Given the description of an element on the screen output the (x, y) to click on. 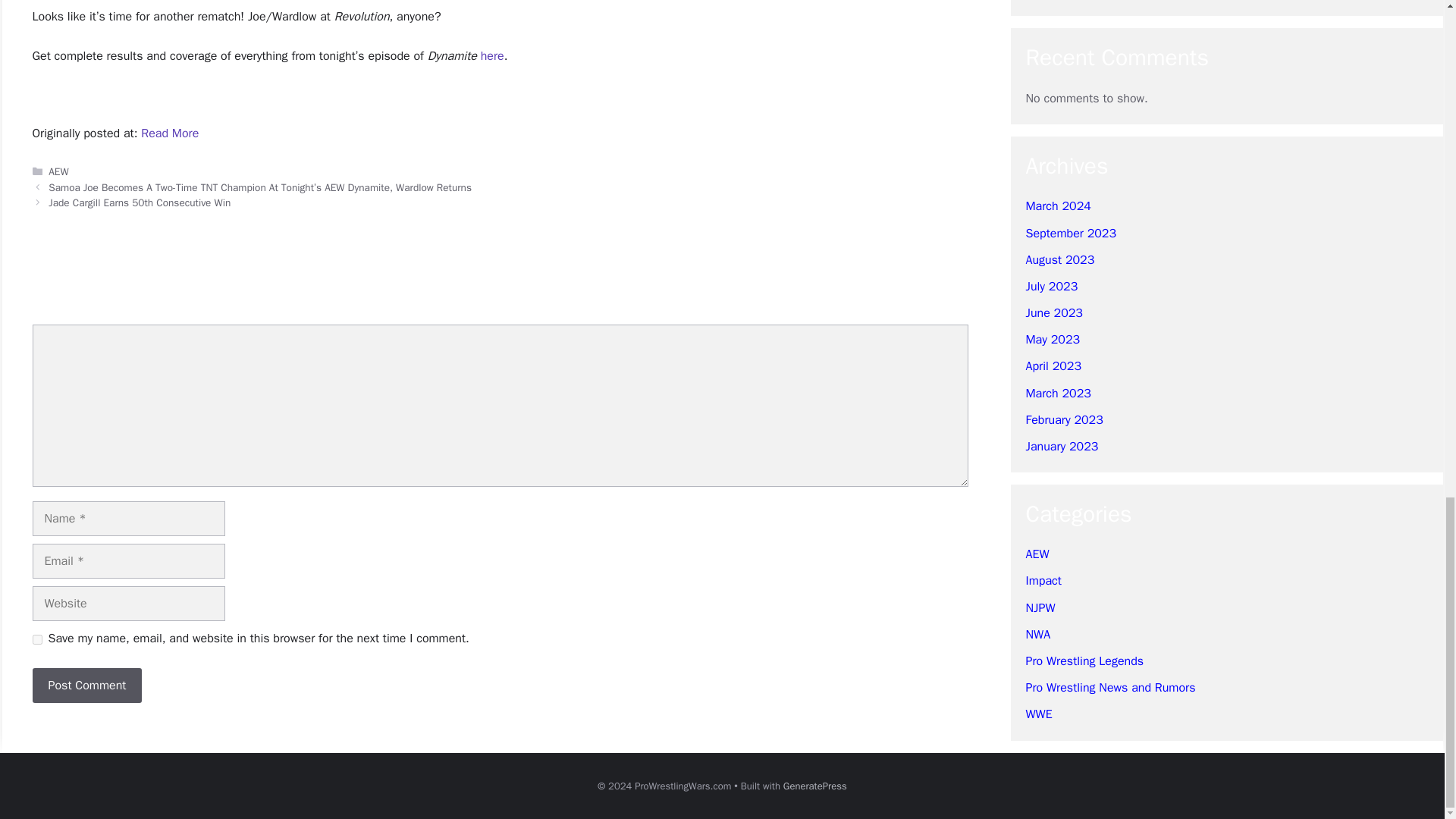
here (491, 55)
AEW (58, 171)
Post Comment (86, 685)
Scroll back to top (1406, 254)
yes (37, 639)
Post Comment (86, 685)
Jade Cargill Earns 50th Consecutive Win (139, 202)
Read More (169, 133)
